Given the description of an element on the screen output the (x, y) to click on. 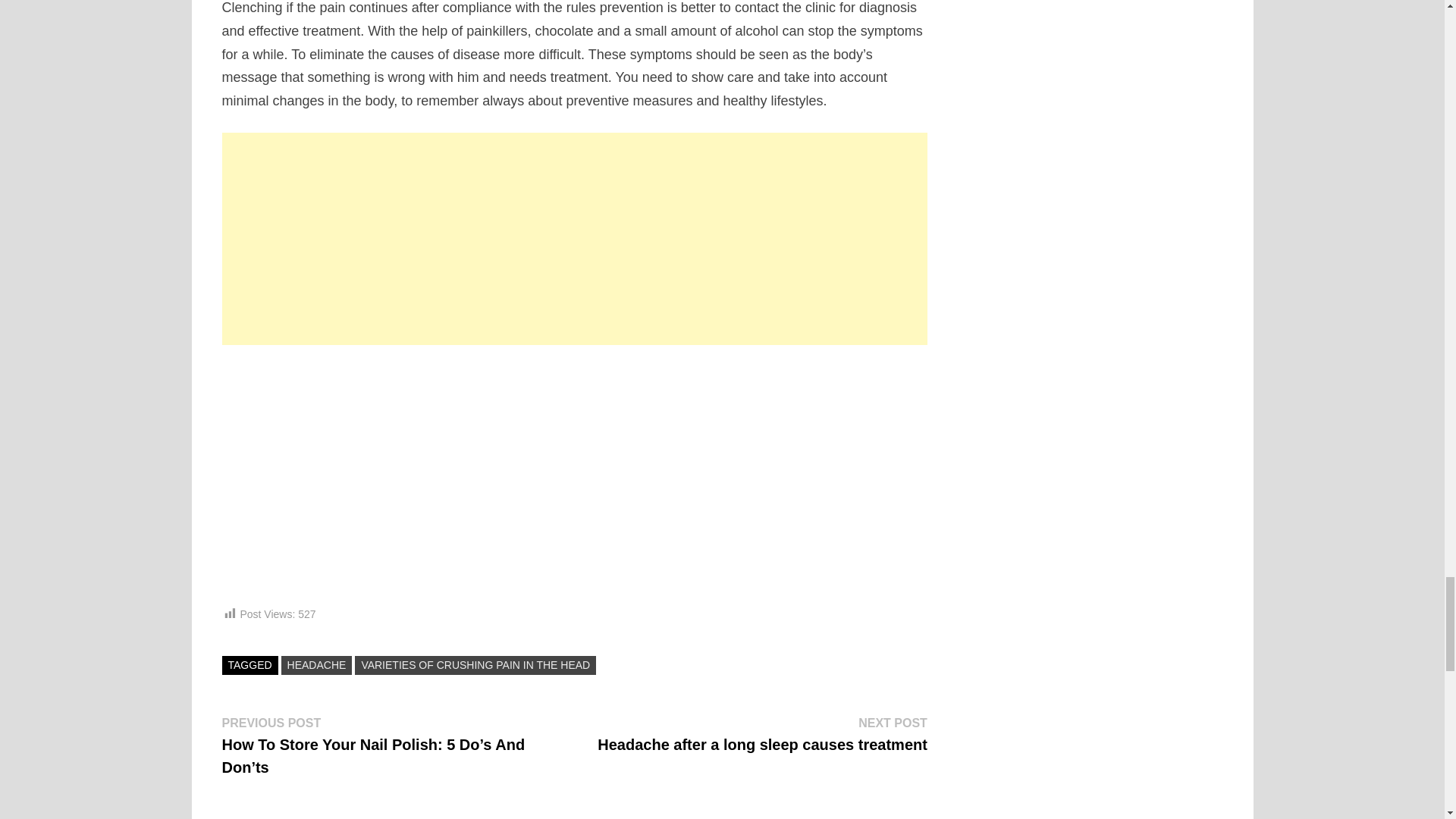
VARIETIES OF CRUSHING PAIN IN THE HEAD (475, 665)
HEADACHE (316, 665)
